Given the description of an element on the screen output the (x, y) to click on. 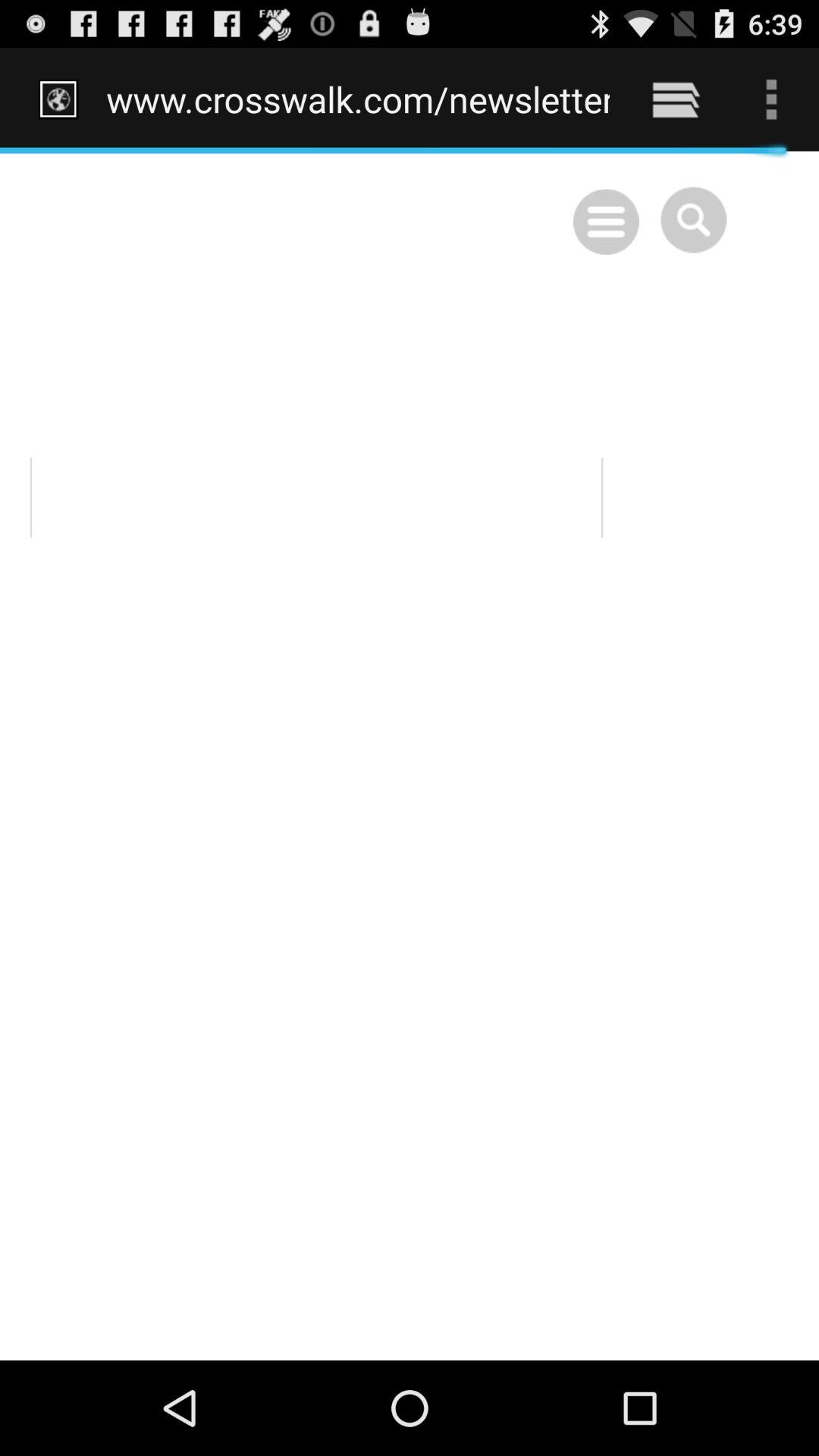
click the www crosswalk com item (357, 99)
